Given the description of an element on the screen output the (x, y) to click on. 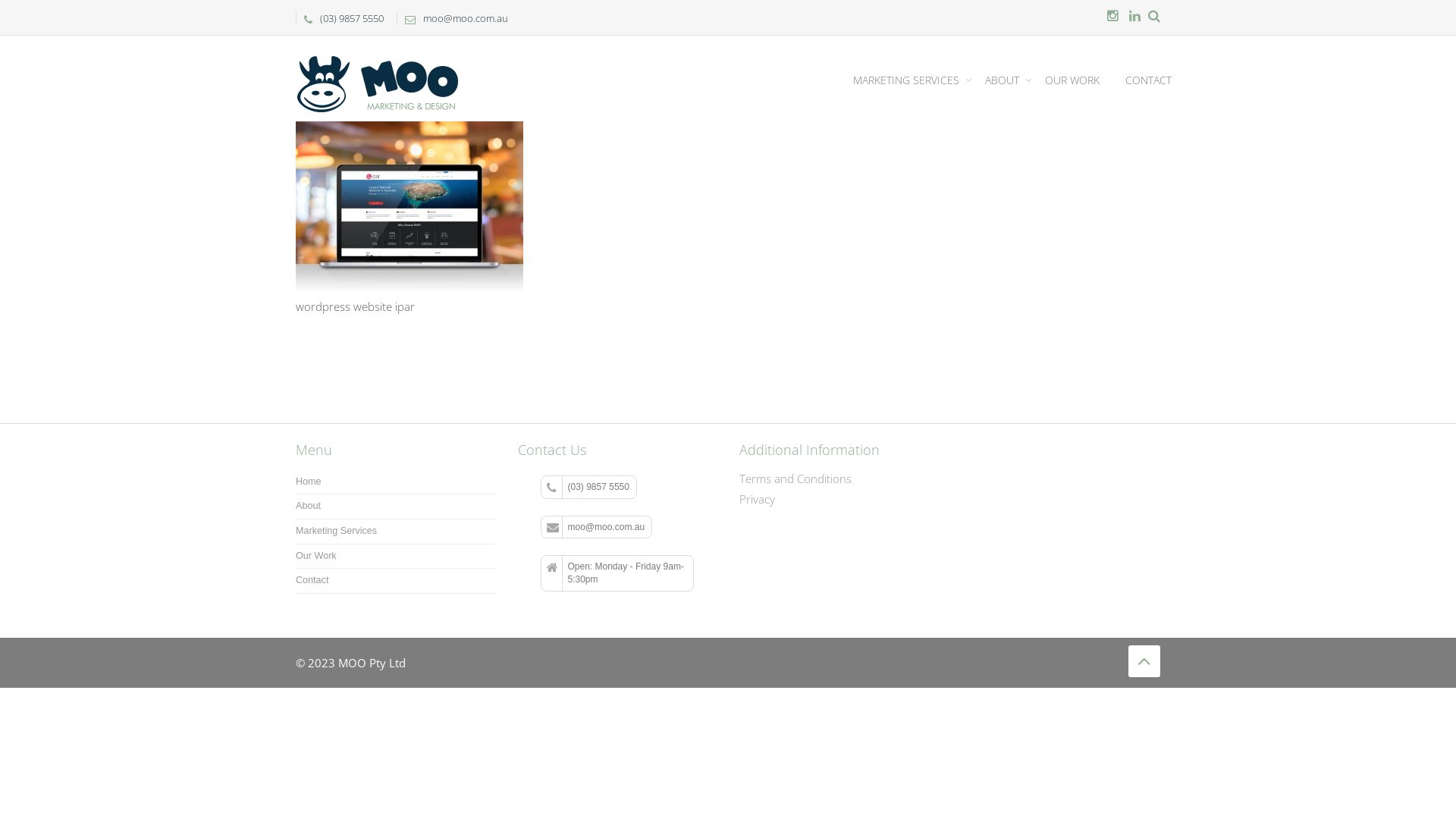
MOO Element type: hover (377, 54)
Contact Element type: text (311, 579)
Home Element type: text (308, 481)
Search the Site Element type: hover (1154, 16)
Terms and Conditions Element type: text (795, 478)
Open: Monday - Friday 9am-5:30pm Element type: text (616, 573)
(03) 9857 5550 Element type: text (587, 486)
Instagram Element type: hover (1112, 16)
Privacy Element type: text (757, 498)
Marketing Services Element type: text (335, 530)
moo@moo.com.au Element type: text (595, 527)
LinkedIn Element type: hover (1134, 16)
MARKETING SERVICES Element type: text (912, 78)
OUR WORK Element type: text (1071, 78)
ABOUT Element type: text (1008, 78)
moo@moo.com.au Element type: text (452, 18)
About Element type: text (307, 505)
Our Work Element type: text (315, 555)
CONTACT Element type: text (1148, 78)
